Given the description of an element on the screen output the (x, y) to click on. 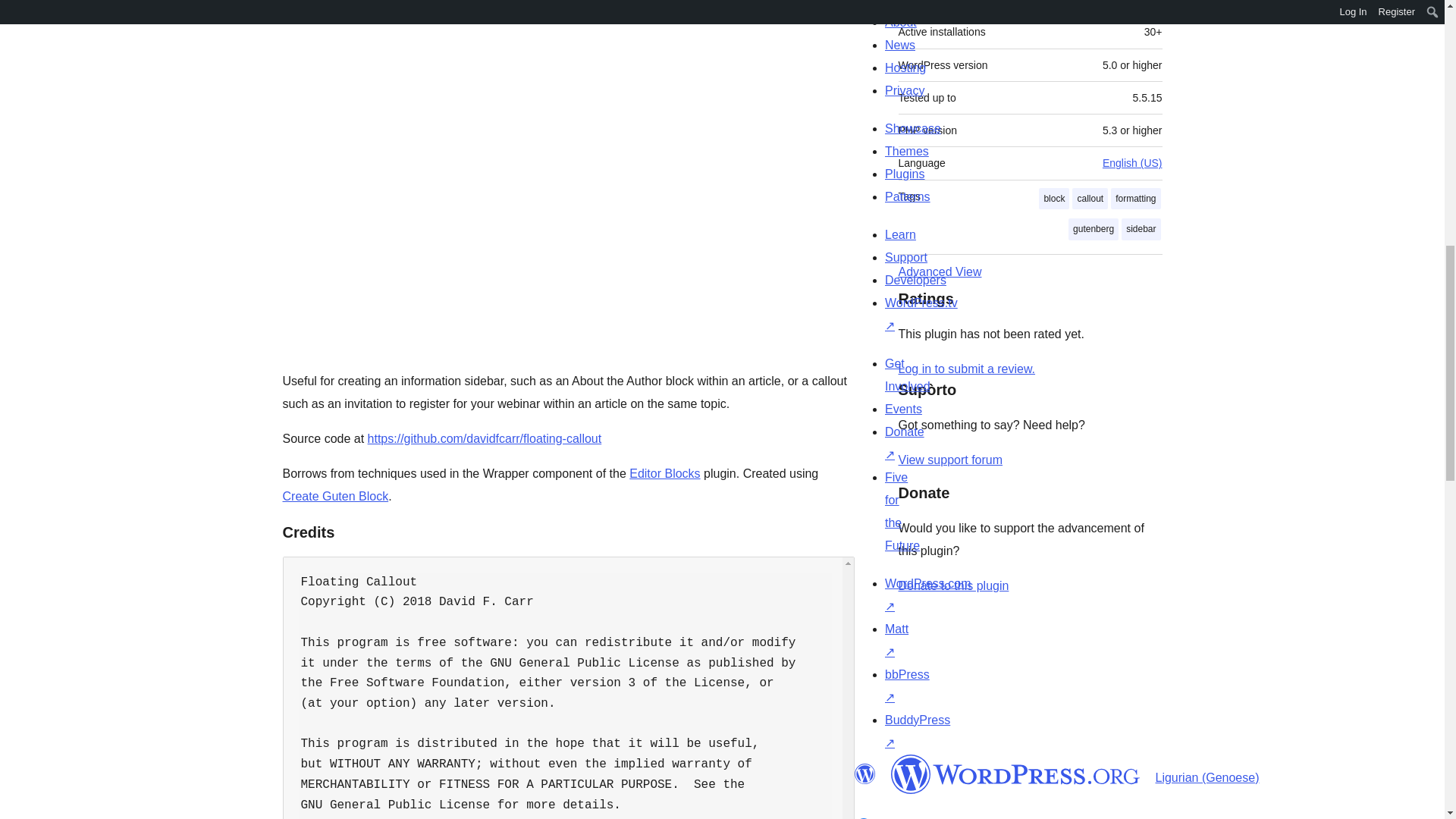
Log in to WordPress.org (966, 368)
Create Guten Block (335, 495)
WordPress.org (864, 773)
Editor Blocks (664, 472)
WordPress.org (1014, 773)
